Given the description of an element on the screen output the (x, y) to click on. 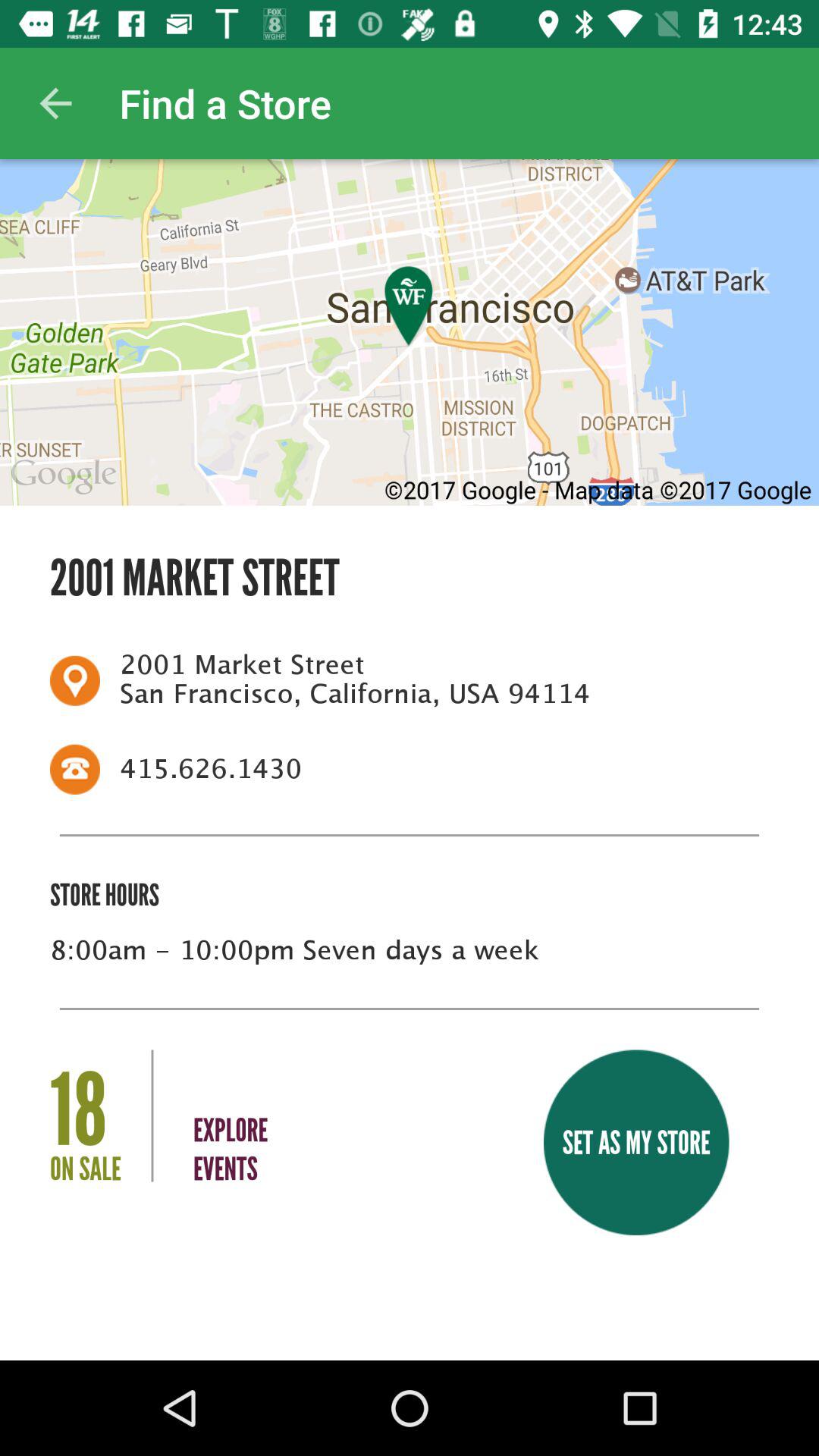
press set as my at the bottom right corner (636, 1142)
